Given the description of an element on the screen output the (x, y) to click on. 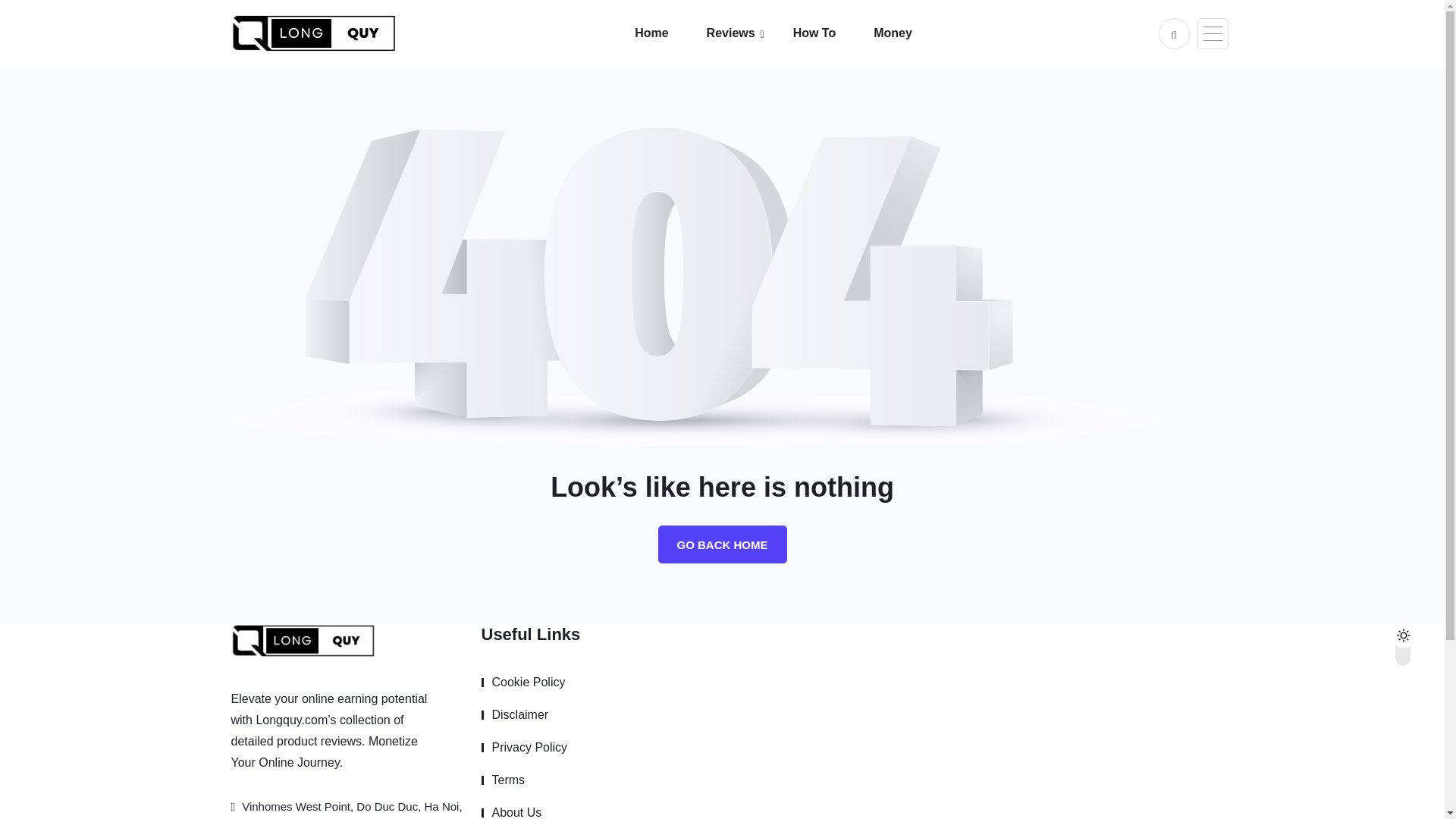
Cookie Policy (522, 681)
Software Reviews (801, 73)
GO BACK HOME (722, 544)
Privacy Policy (523, 747)
Disclaimer (514, 714)
Reviews (749, 32)
How To (834, 32)
Home (670, 32)
on (1415, 631)
Money (911, 32)
